Given the description of an element on the screen output the (x, y) to click on. 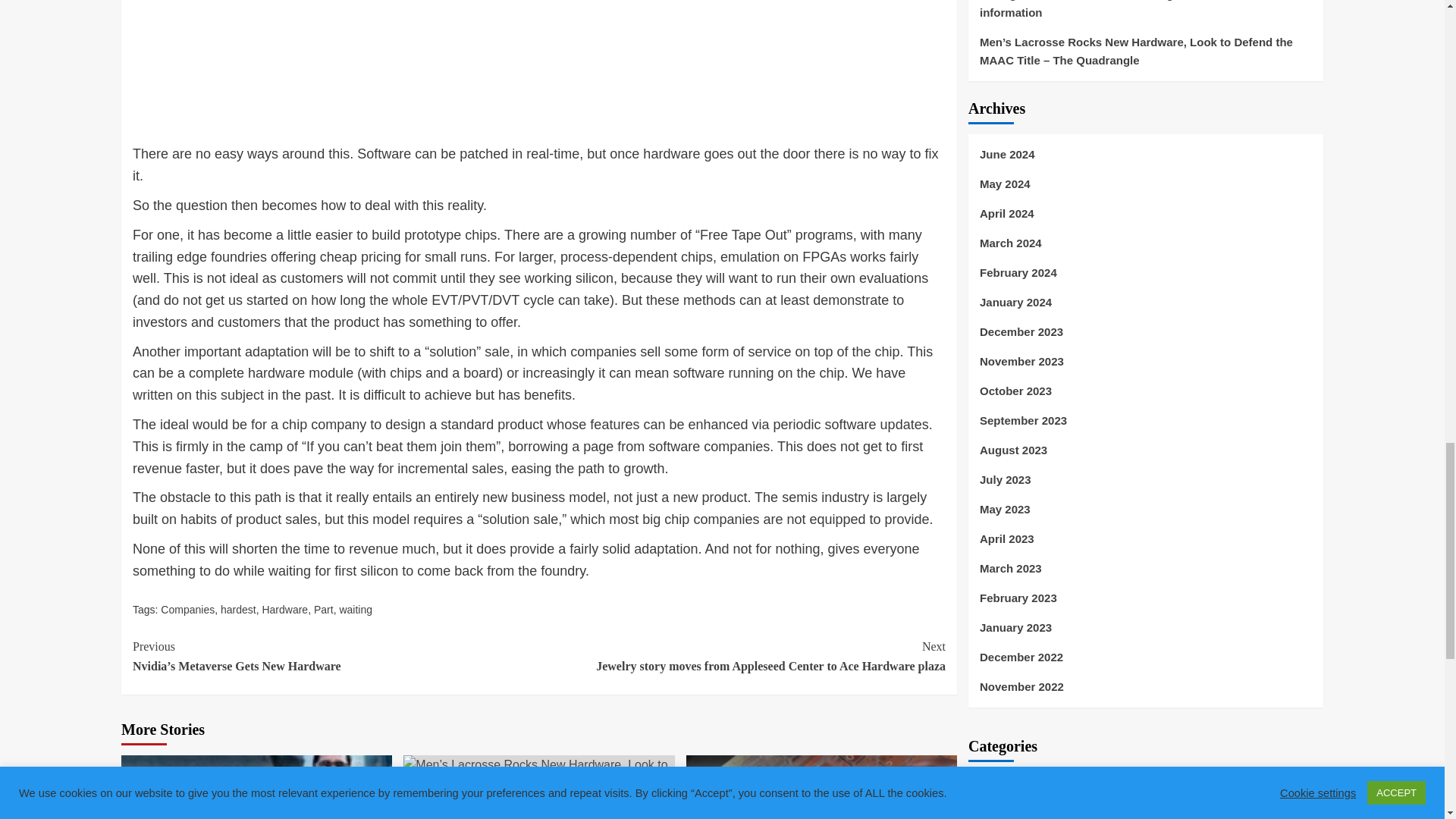
Part (323, 609)
written on this subject (197, 394)
waiting (355, 609)
hardest (238, 609)
Hardware (284, 609)
Companies (187, 609)
